Given the description of an element on the screen output the (x, y) to click on. 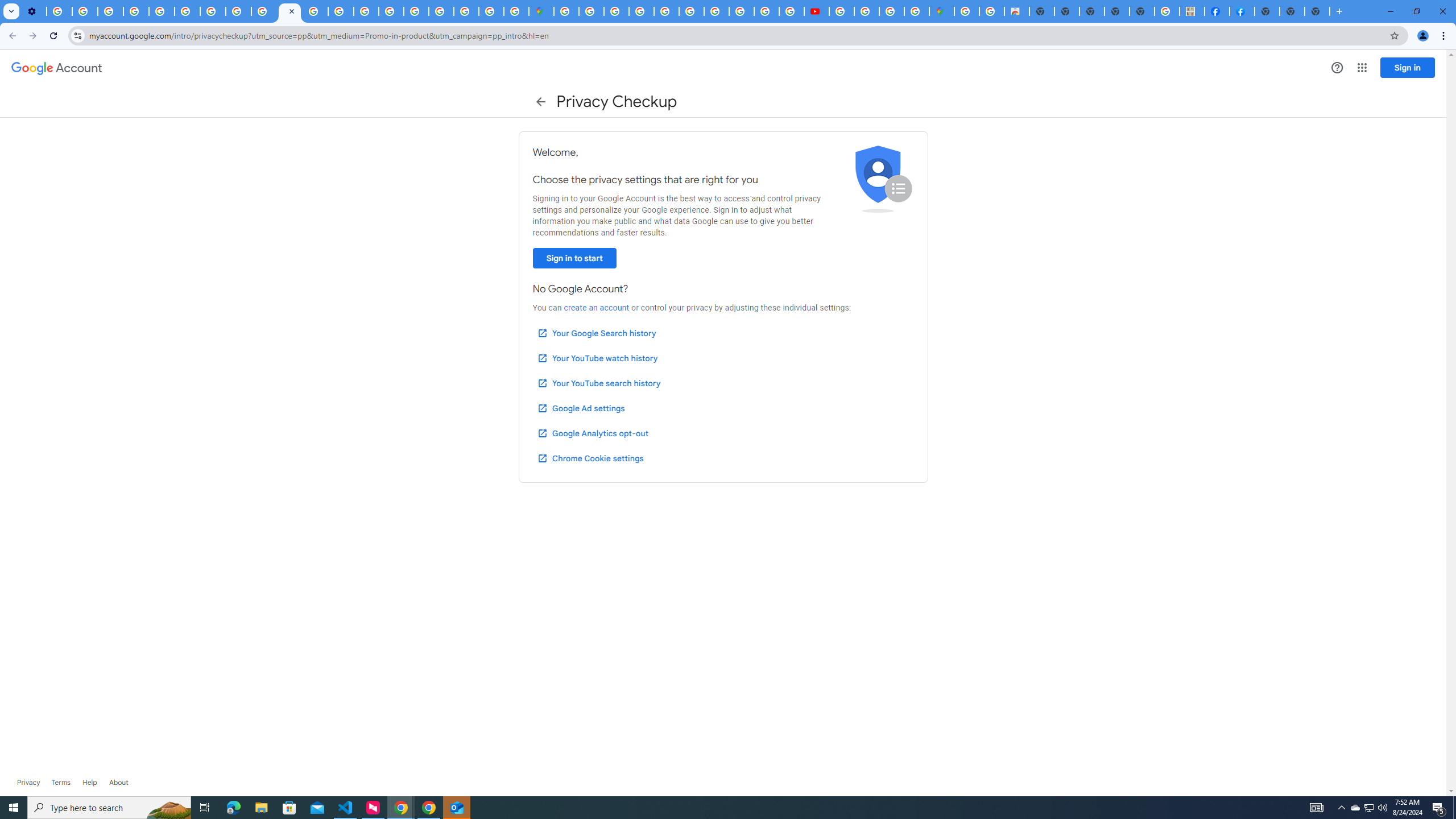
Privacy Help Center - Policies Help (740, 11)
https://scholar.google.com/ (315, 11)
Blogger Policies and Guidelines - Transparency Center (715, 11)
Terms and Conditions (691, 11)
Privacy Help Center - Policies Help (340, 11)
How Chrome protects your passwords - Google Chrome Help (841, 11)
